Given the description of an element on the screen output the (x, y) to click on. 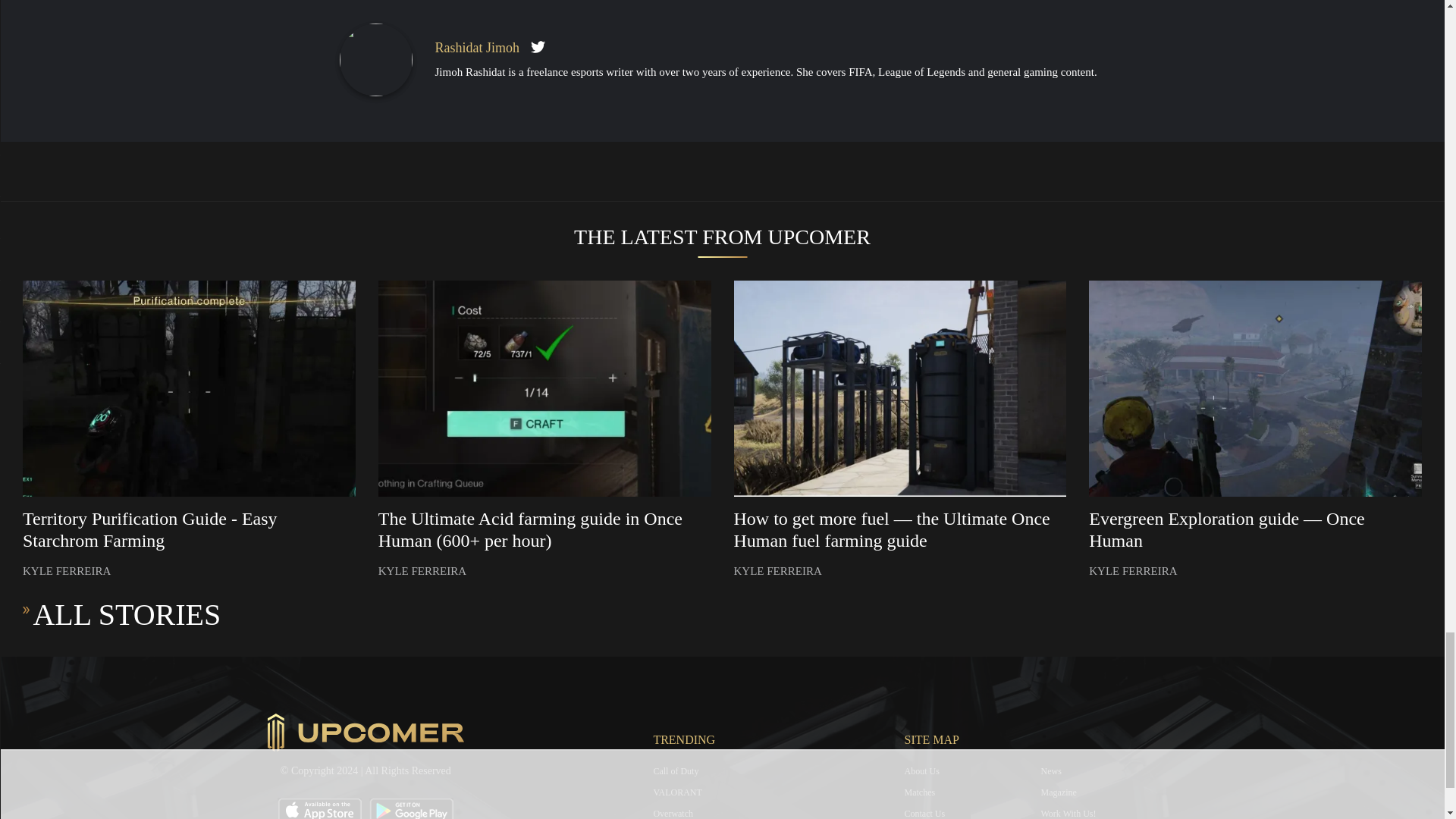
Upcomer Logo (365, 732)
